Given the description of an element on the screen output the (x, y) to click on. 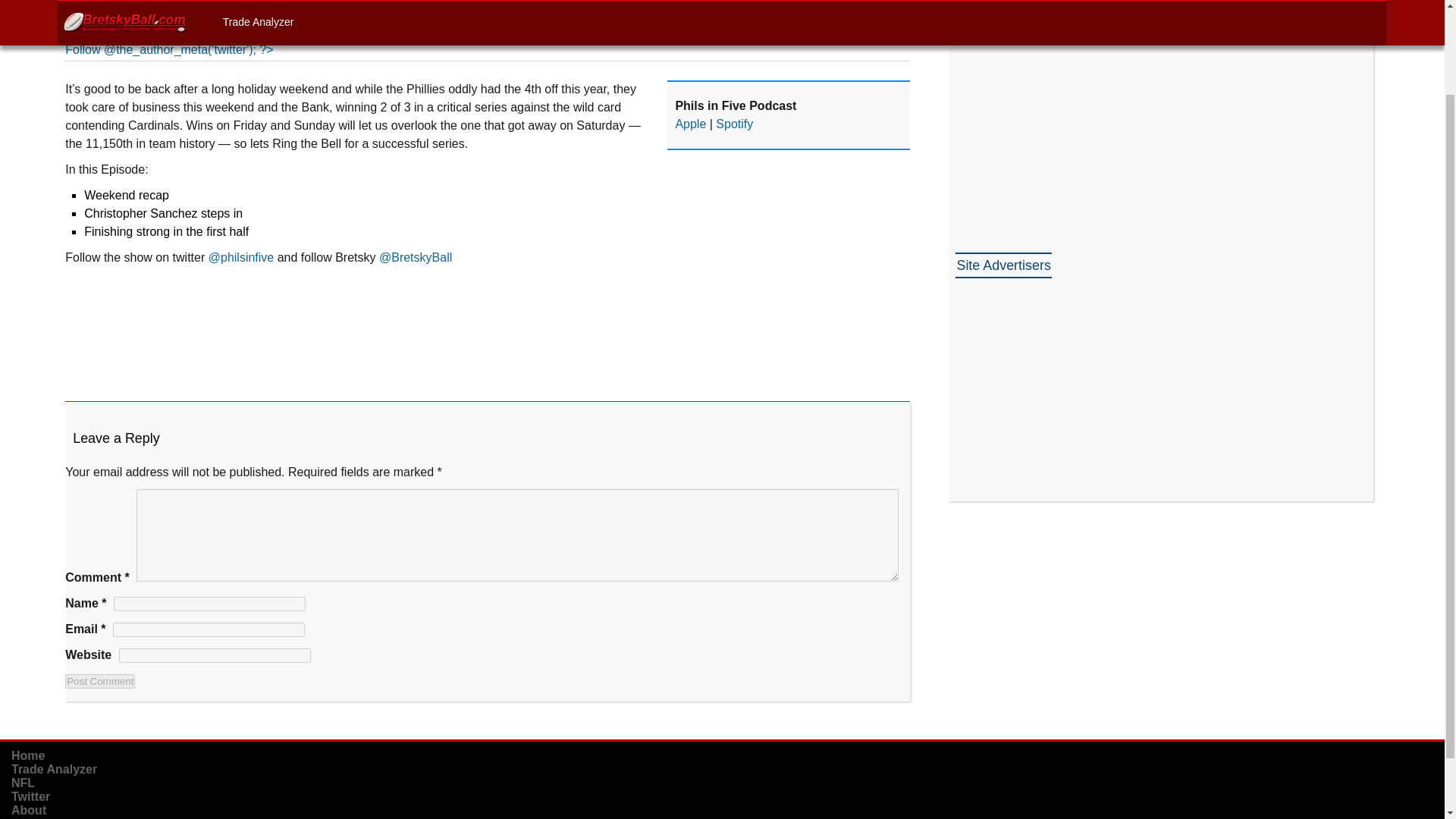
Post Comment (100, 681)
Trade Analyzer (54, 768)
Advertisement (1068, 108)
About (28, 809)
Posts by Bretsky (128, 30)
Advertisement (1068, 380)
Post Comment (100, 681)
Spotify (734, 123)
Episode 47 - Taking Care of Business (487, 323)
Twitter (30, 796)
